Given the description of an element on the screen output the (x, y) to click on. 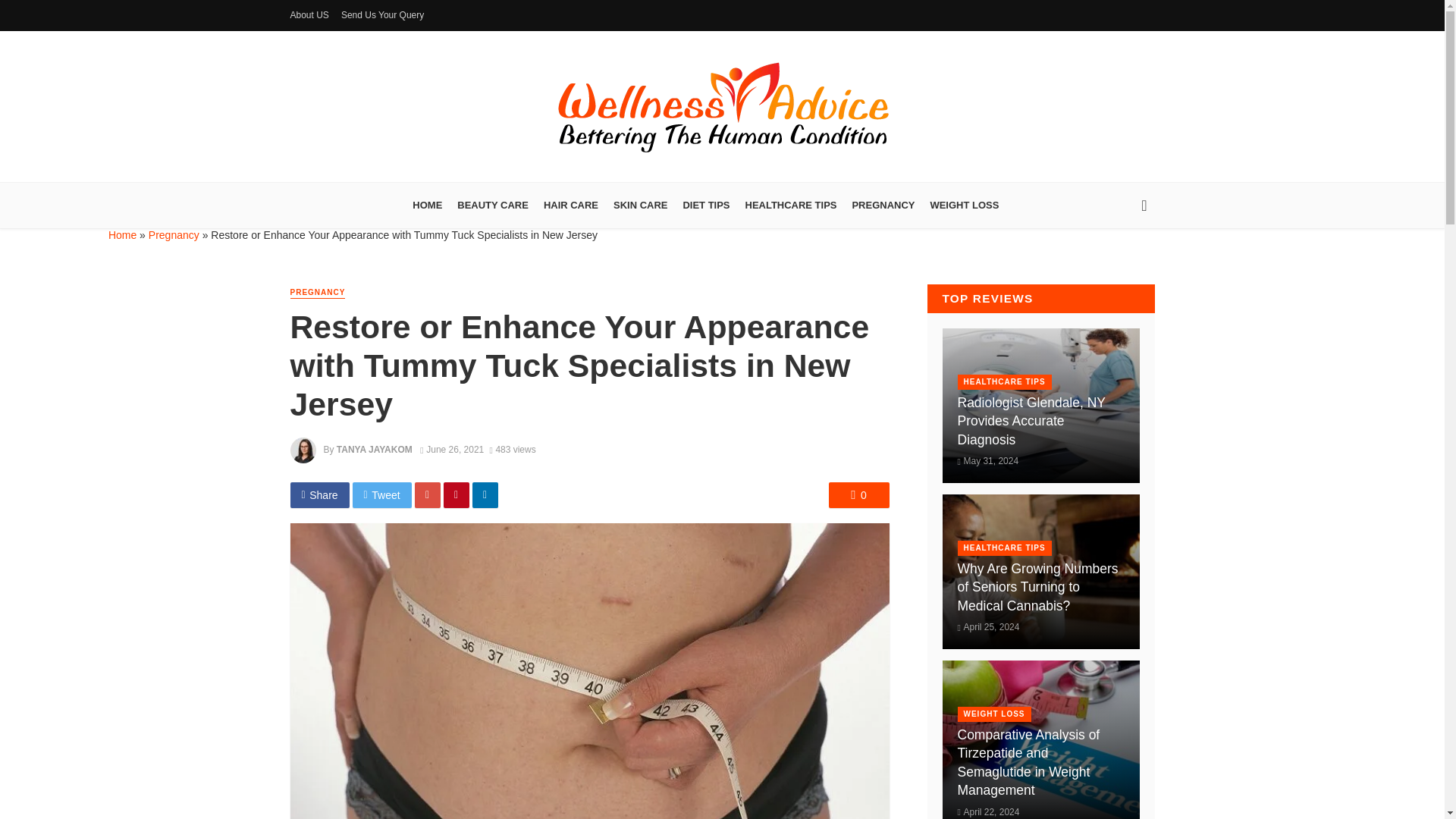
Share on Pinterest (456, 494)
Posts by Tanya Jayakom (374, 449)
TANYA JAYAKOM (374, 449)
June 26, 2021 at 4:26 am (451, 449)
Share on Facebook (319, 494)
Pregnancy (173, 234)
DIET TIPS (705, 205)
About US (308, 14)
PREGNANCY (317, 292)
Home (121, 234)
Share on Twitter (382, 494)
BEAUTY CARE (492, 205)
0 Comments (858, 494)
HAIR CARE (570, 205)
